Given the description of an element on the screen output the (x, y) to click on. 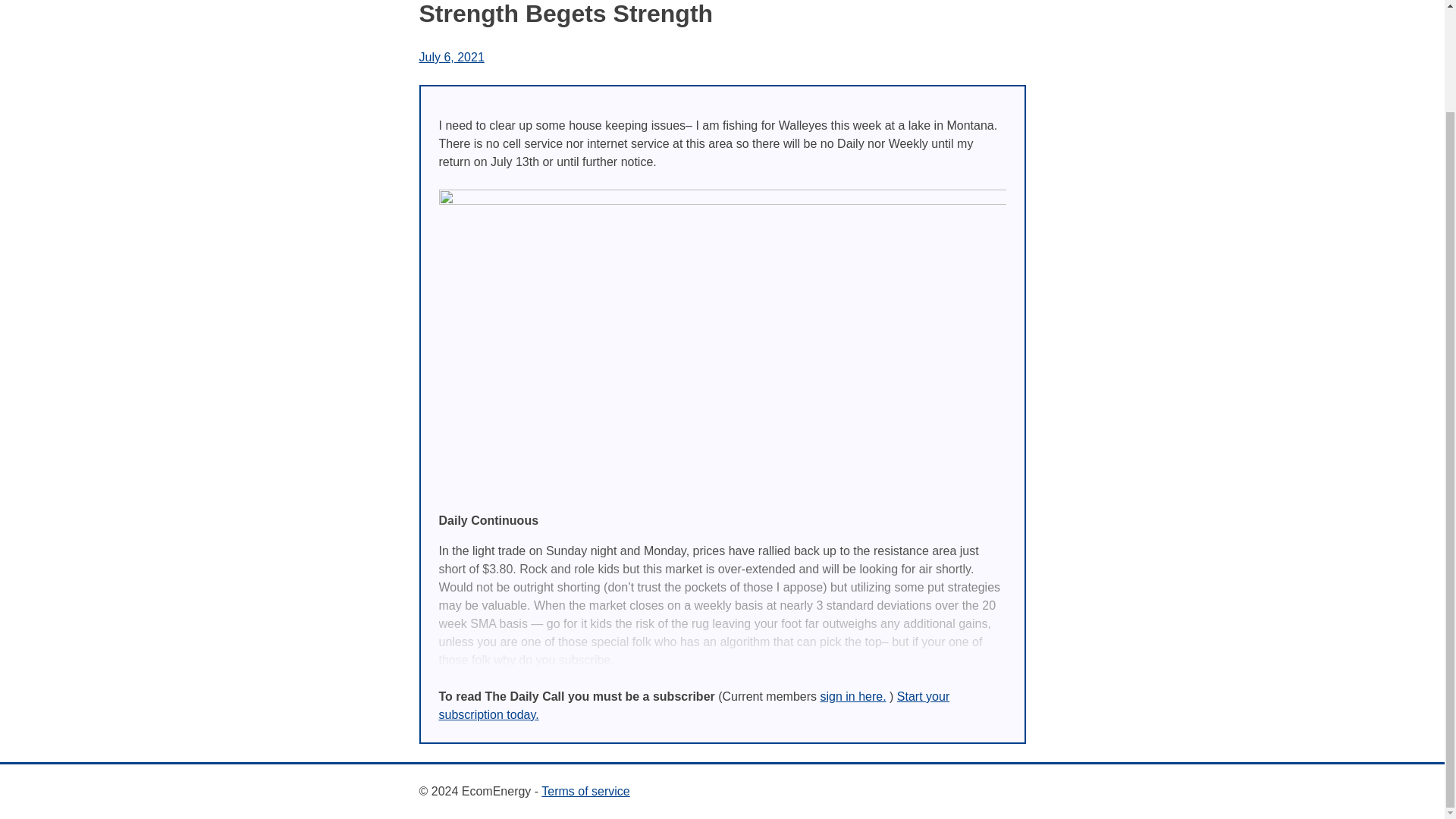
sign in here. (852, 696)
Terms of service (584, 790)
July 6, 2021 (451, 56)
Start your subscription today. (693, 705)
